Given the description of an element on the screen output the (x, y) to click on. 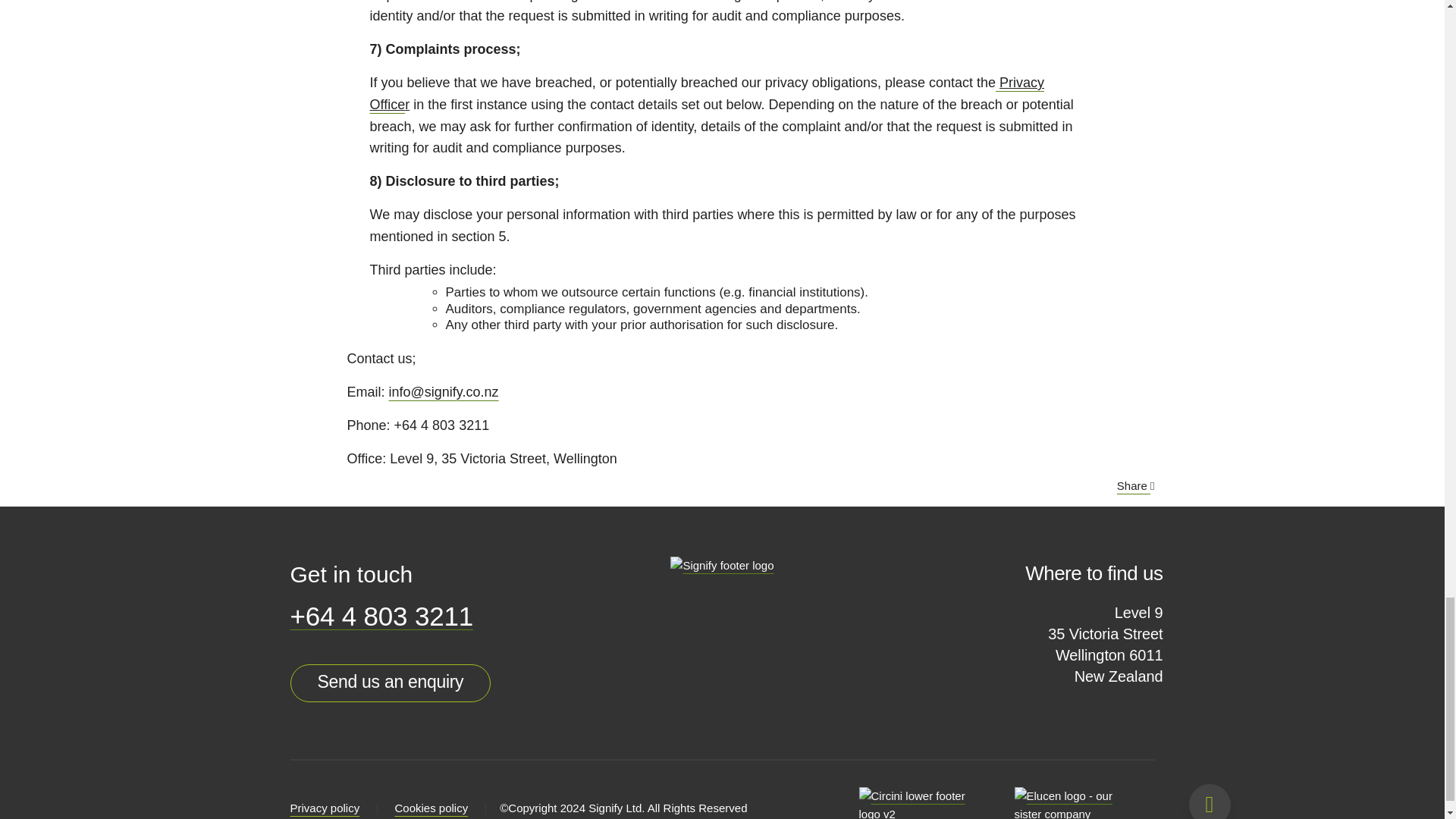
Cookies policy (430, 807)
Privacy Office (707, 93)
Share (1135, 485)
Privacy policy (324, 807)
Send us an enquiry (389, 682)
